Given the description of an element on the screen output the (x, y) to click on. 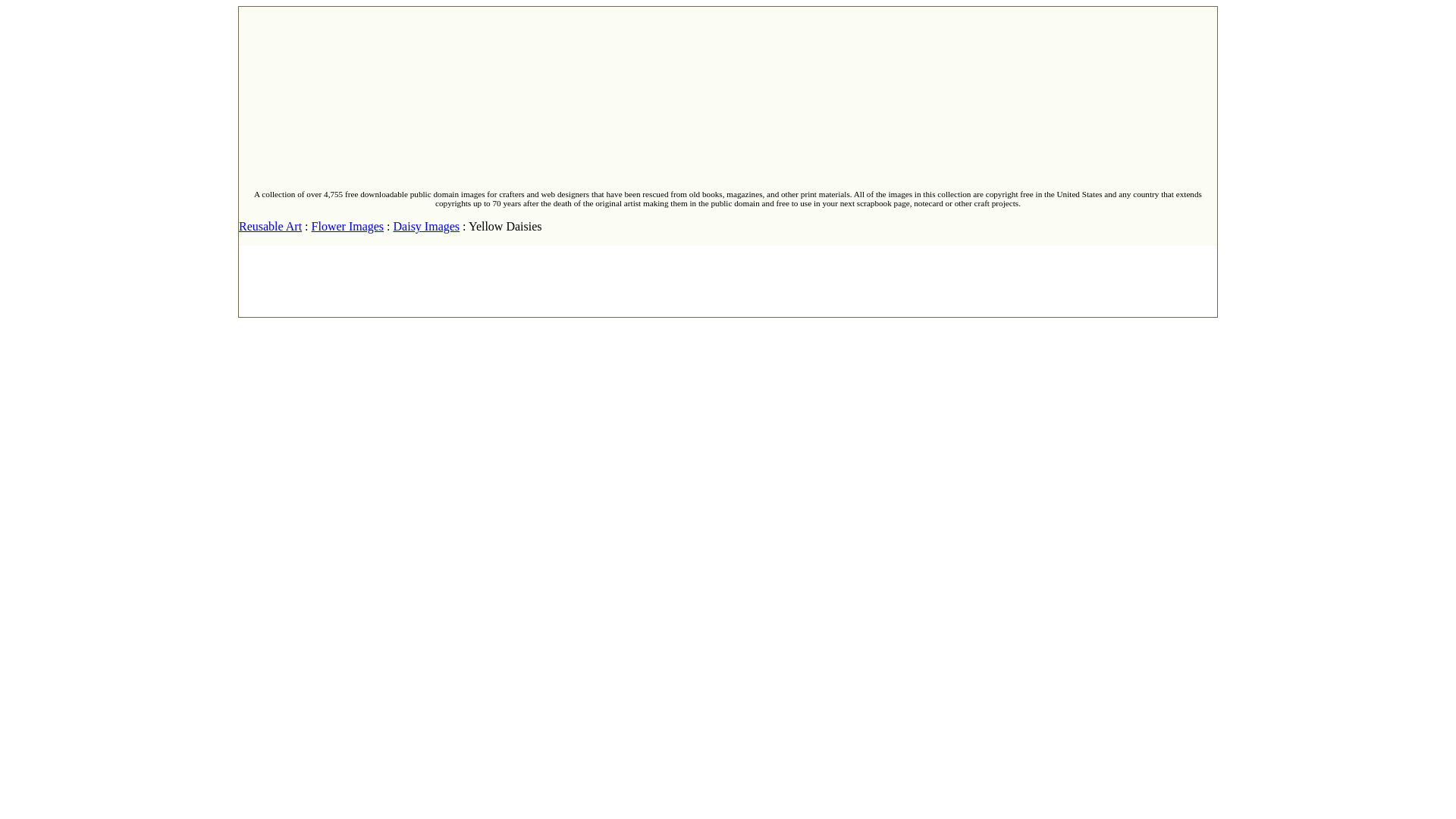
Daisy Images (426, 226)
Reusable Art (269, 226)
Flower Images (347, 226)
